Given the description of an element on the screen output the (x, y) to click on. 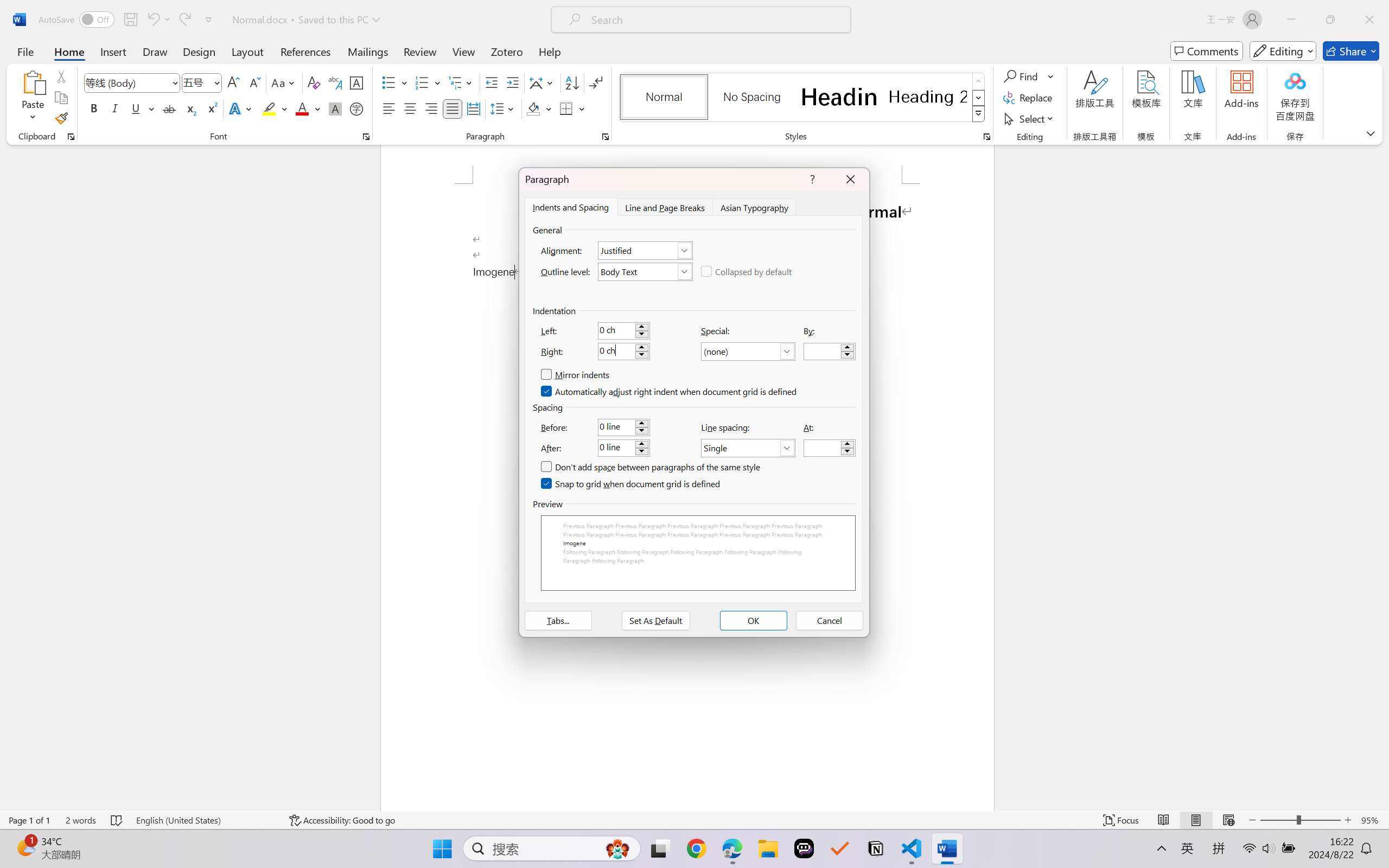
Don't add space between paragraphs of the same style (651, 466)
Strikethrough (169, 108)
At: (829, 447)
Microsoft search (715, 19)
Help (549, 51)
Styles (978, 113)
